Given the description of an element on the screen output the (x, y) to click on. 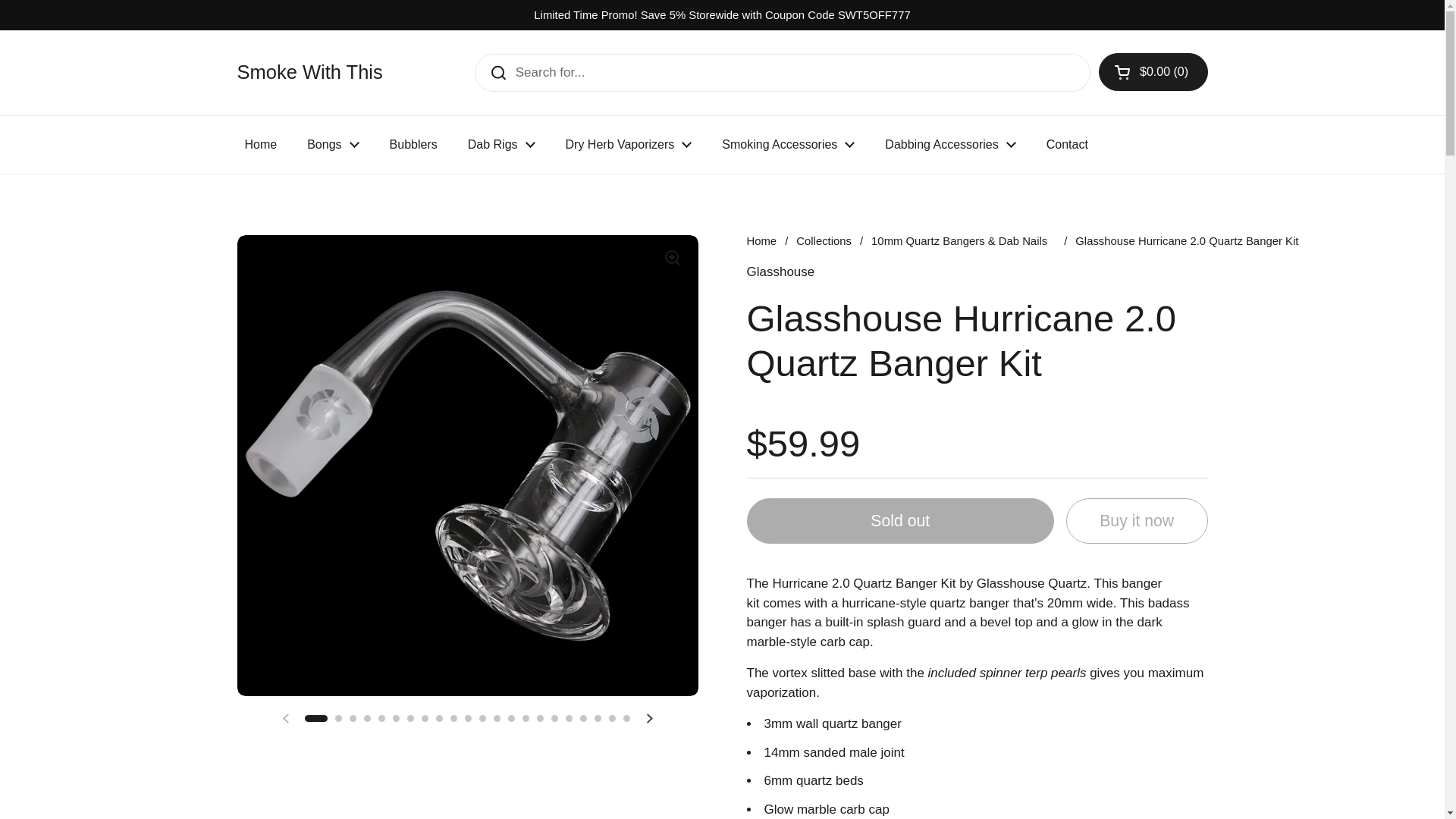
Bongs (333, 144)
Dab Rigs (501, 144)
Smoke With This (308, 72)
Bubblers (413, 144)
Home (260, 144)
Smoke With This (308, 72)
Open cart (1153, 71)
